Given the description of an element on the screen output the (x, y) to click on. 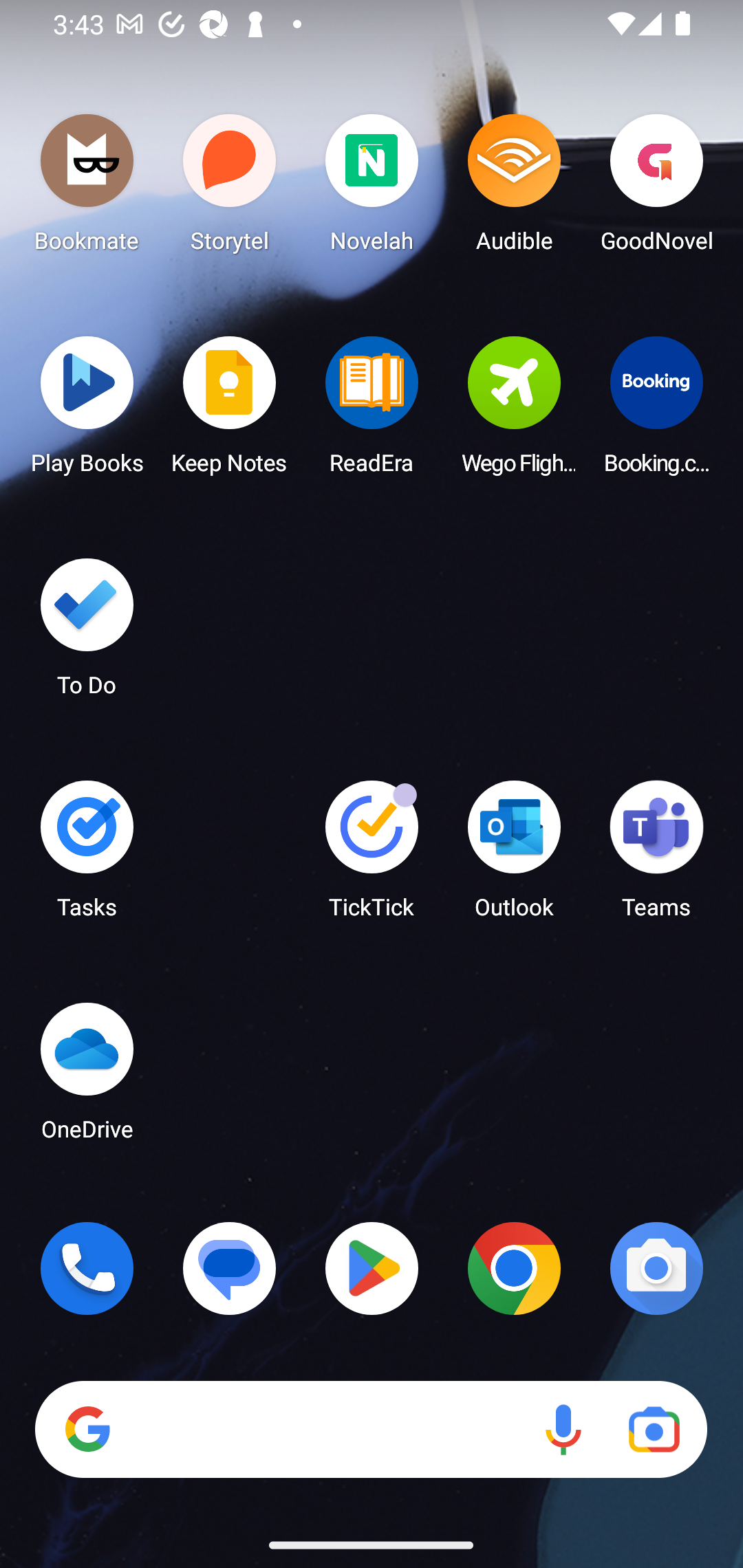
Bookmate (86, 188)
Storytel (229, 188)
Novelah (371, 188)
Audible (513, 188)
GoodNovel (656, 188)
Play Books (86, 410)
Keep Notes (229, 410)
ReadEra (371, 410)
Wego Flights & Hotels (513, 410)
Booking.com (656, 410)
To Do (86, 633)
Tasks (86, 854)
TickTick TickTick has 3 notifications (371, 854)
Outlook (513, 854)
Teams (656, 854)
OneDrive (86, 1076)
Phone (86, 1268)
Messages (229, 1268)
Play Store (371, 1268)
Chrome (513, 1268)
Camera (656, 1268)
Search Voice search Google Lens (370, 1429)
Voice search (562, 1429)
Google Lens (653, 1429)
